Given the description of an element on the screen output the (x, y) to click on. 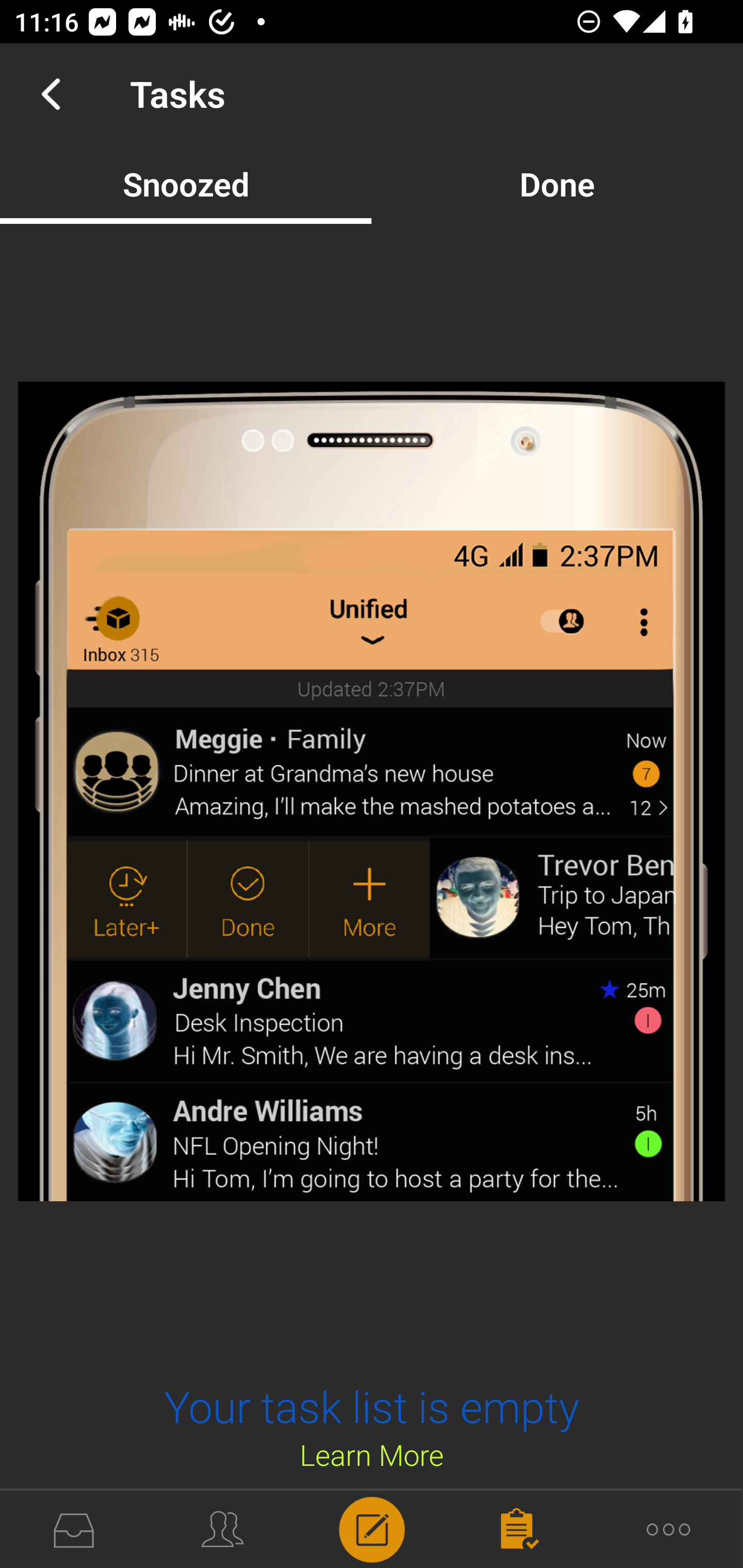
Navigate up (50, 93)
Snoozed (185, 184)
Done (557, 184)
Learn More (371, 1453)
Compose (371, 1528)
